Given the description of an element on the screen output the (x, y) to click on. 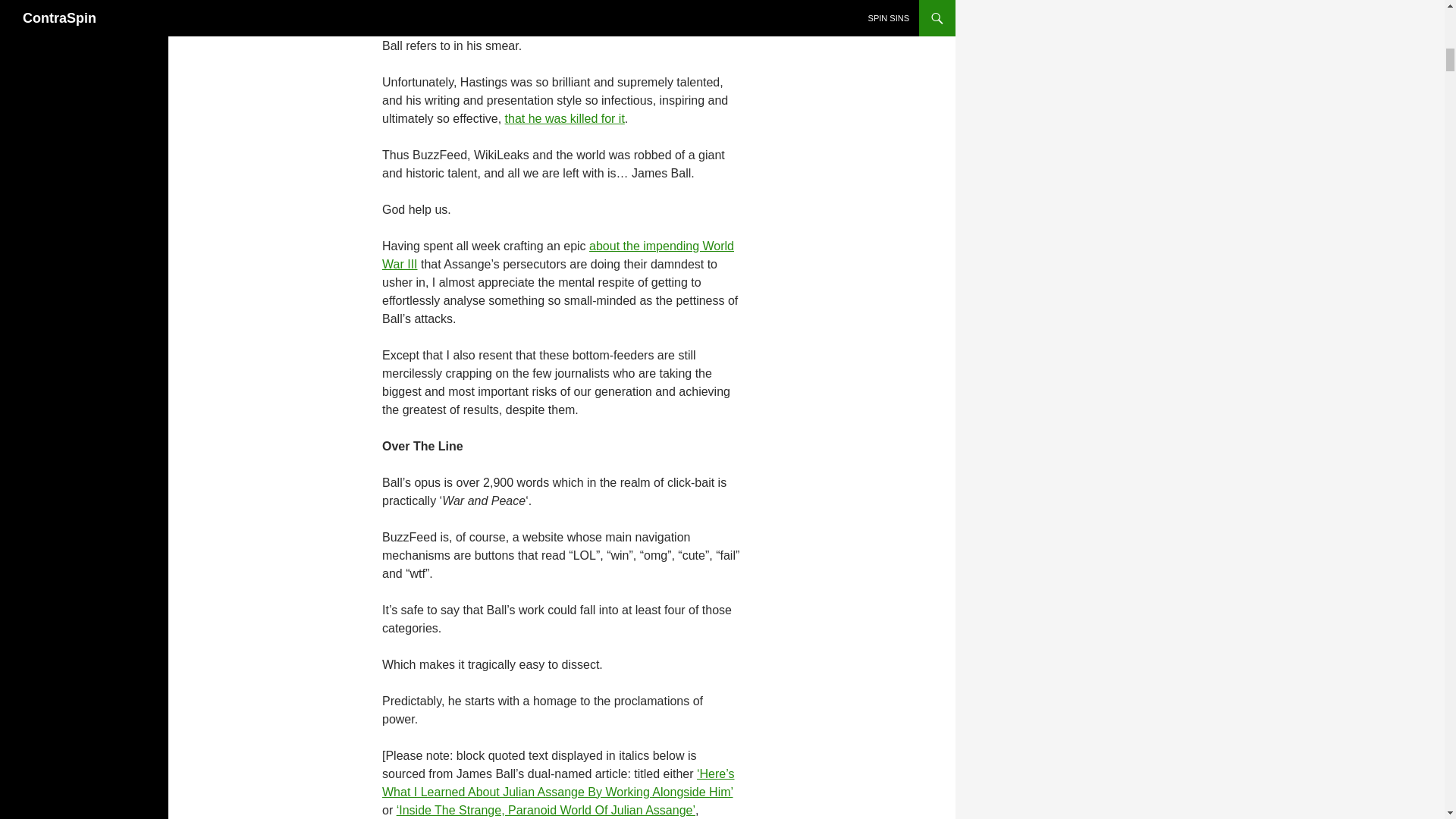
about the impending World War III (557, 255)
that he was killed for it (564, 118)
